Given the description of an element on the screen output the (x, y) to click on. 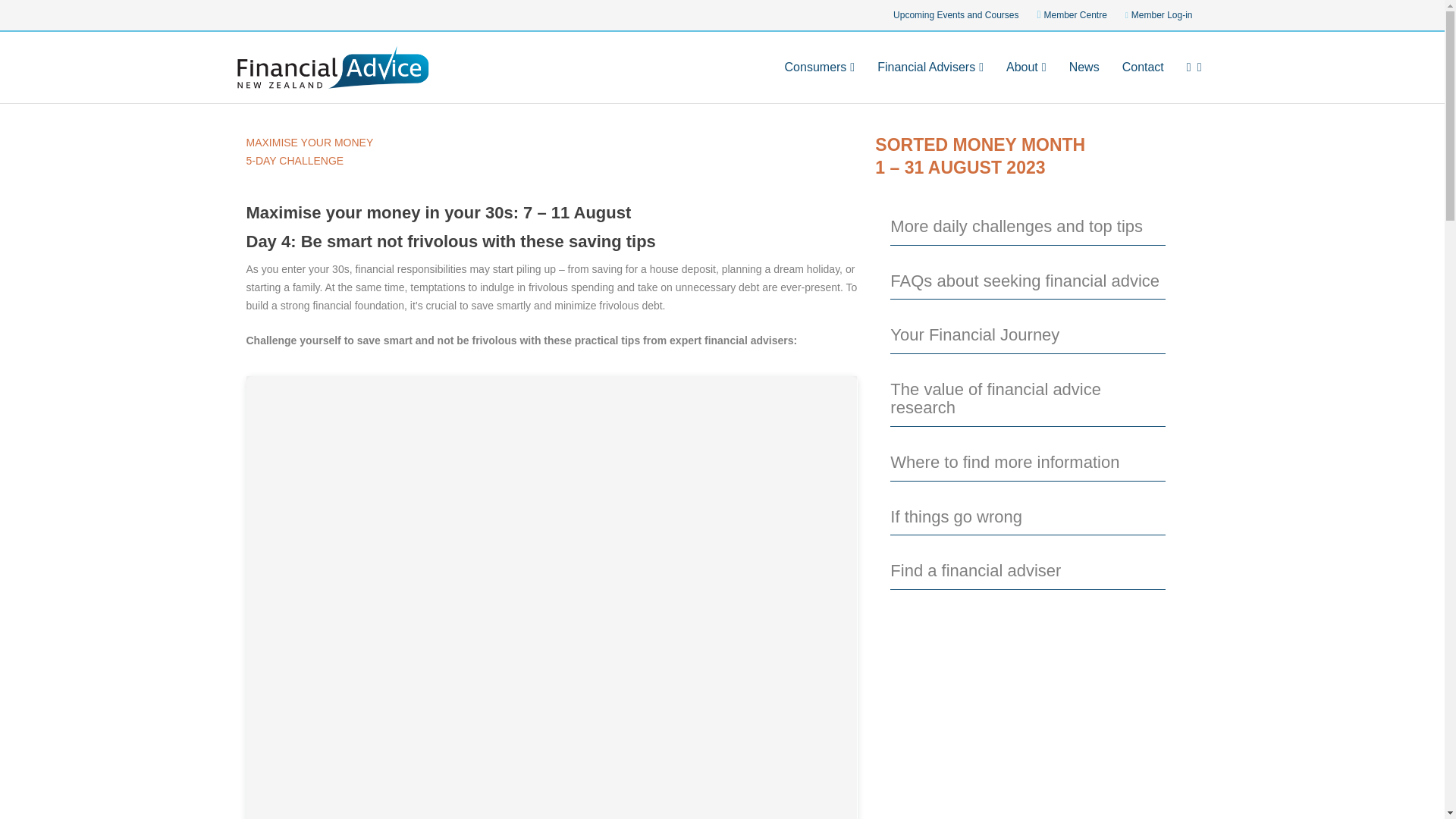
Member Log-in (1158, 16)
Member Centre (1071, 17)
Upcoming Events and Courses (955, 16)
Contact (1142, 82)
Financial Advisers (930, 82)
Consumers (820, 82)
About (1026, 82)
